Given the description of an element on the screen output the (x, y) to click on. 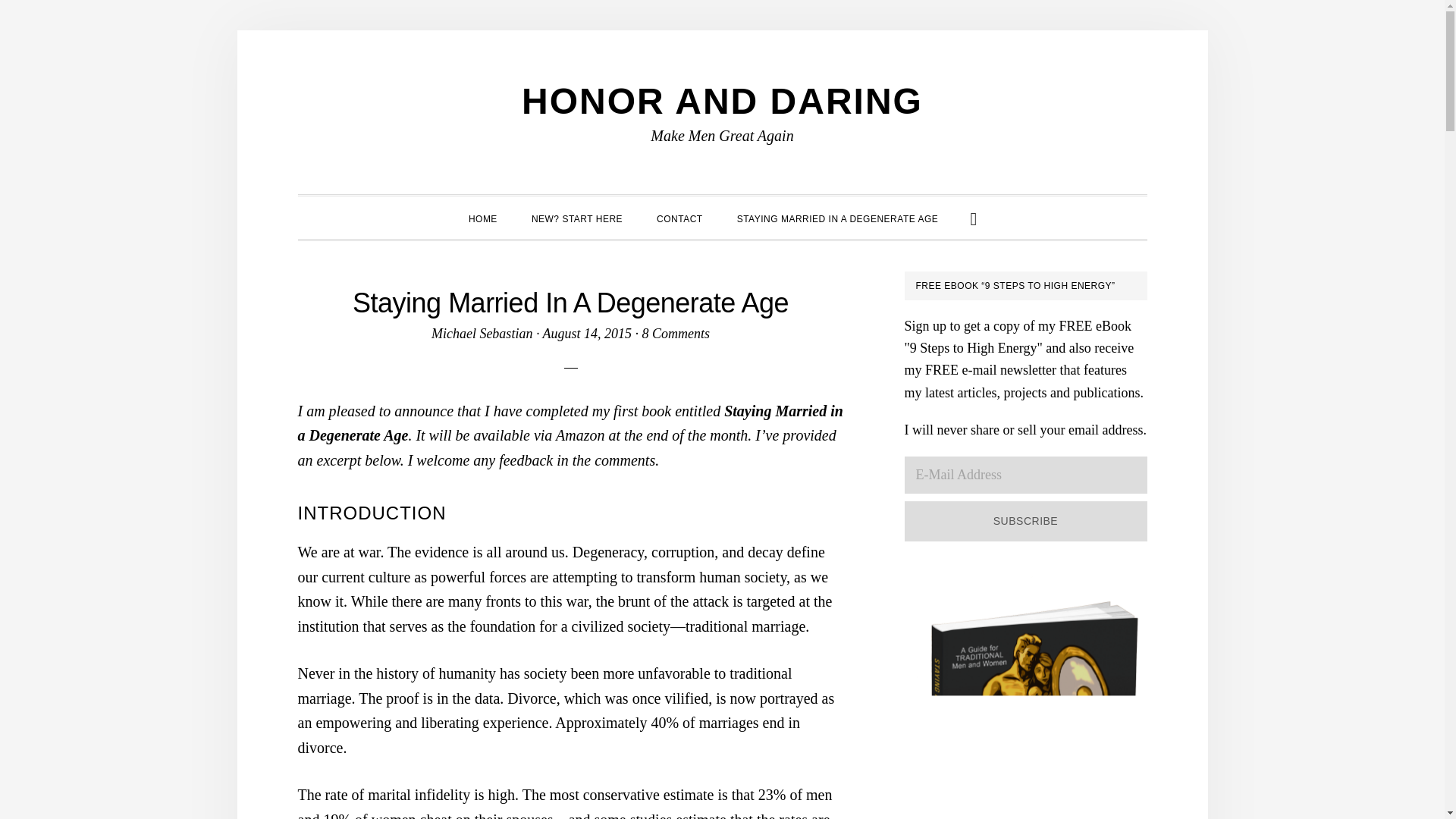
NEW? START HERE (576, 216)
CONTACT (679, 216)
Michael Sebastian (481, 333)
SUBSCRIBE (1025, 521)
8 Comments (676, 333)
STAYING MARRIED IN A DEGENERATE AGE (837, 216)
HOME (482, 216)
SUBSCRIBE (1025, 521)
HONOR AND DARING (722, 101)
